Given the description of an element on the screen output the (x, y) to click on. 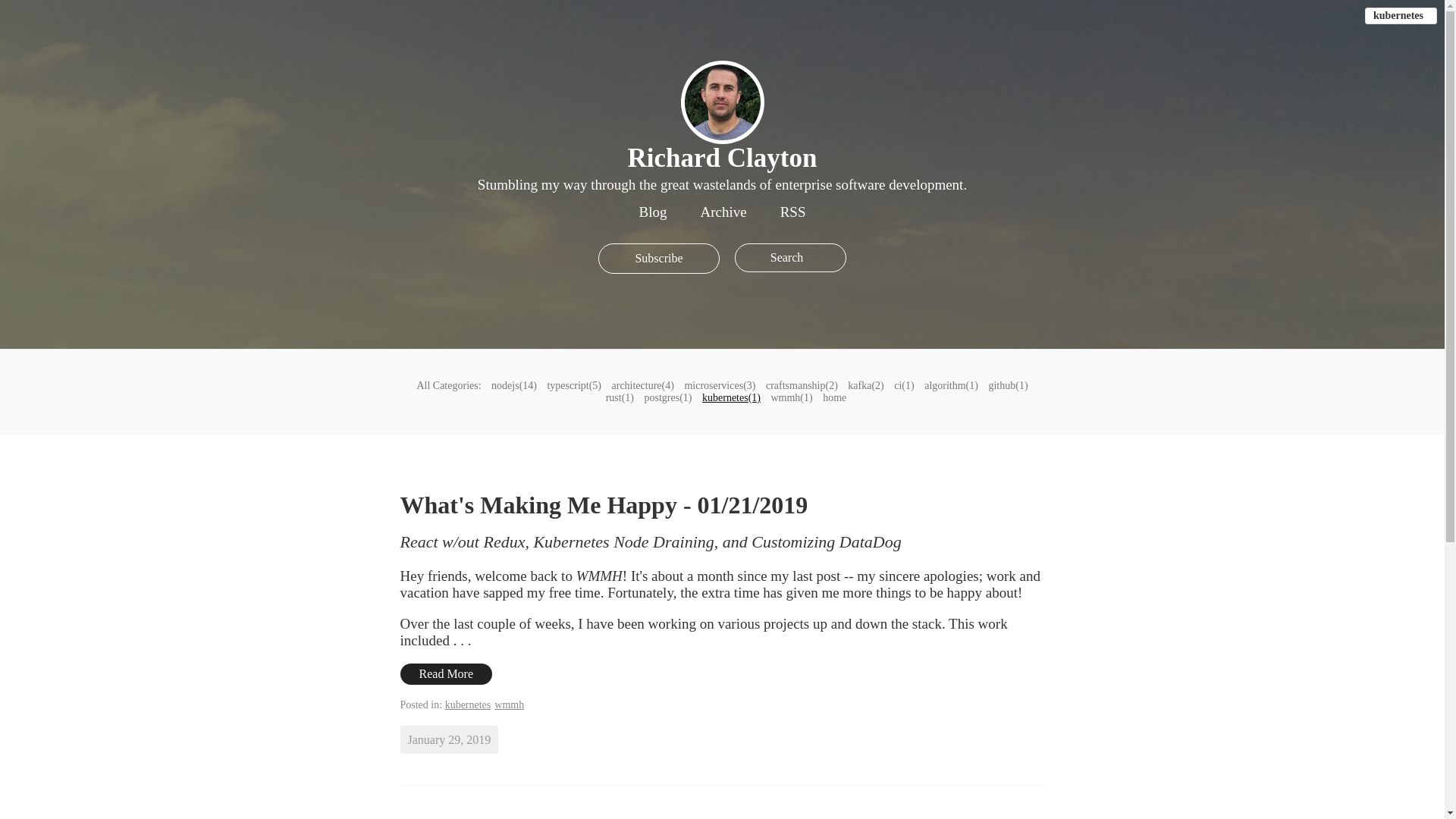
Archive (722, 211)
Read More (446, 673)
wmmh (509, 705)
RSS (793, 211)
kubernetes (468, 705)
Blog (652, 211)
Subscribe (658, 258)
kubernetes   (1401, 15)
home (833, 398)
clear tag (1401, 15)
